Given the description of an element on the screen output the (x, y) to click on. 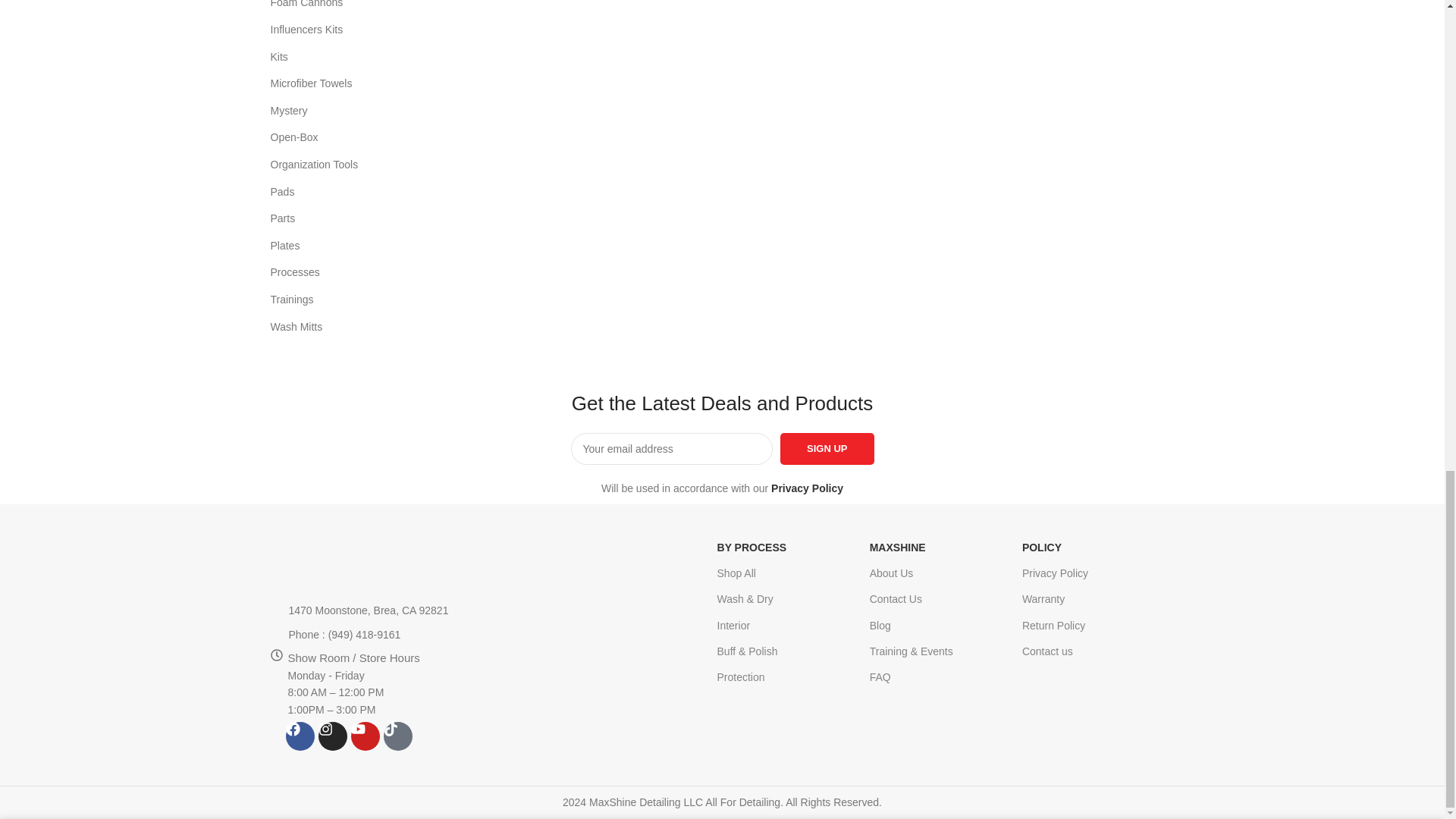
Sign up (826, 449)
wd-phone-dark.svg (275, 634)
wd-cursor-dark.svg (275, 610)
